Given the description of an element on the screen output the (x, y) to click on. 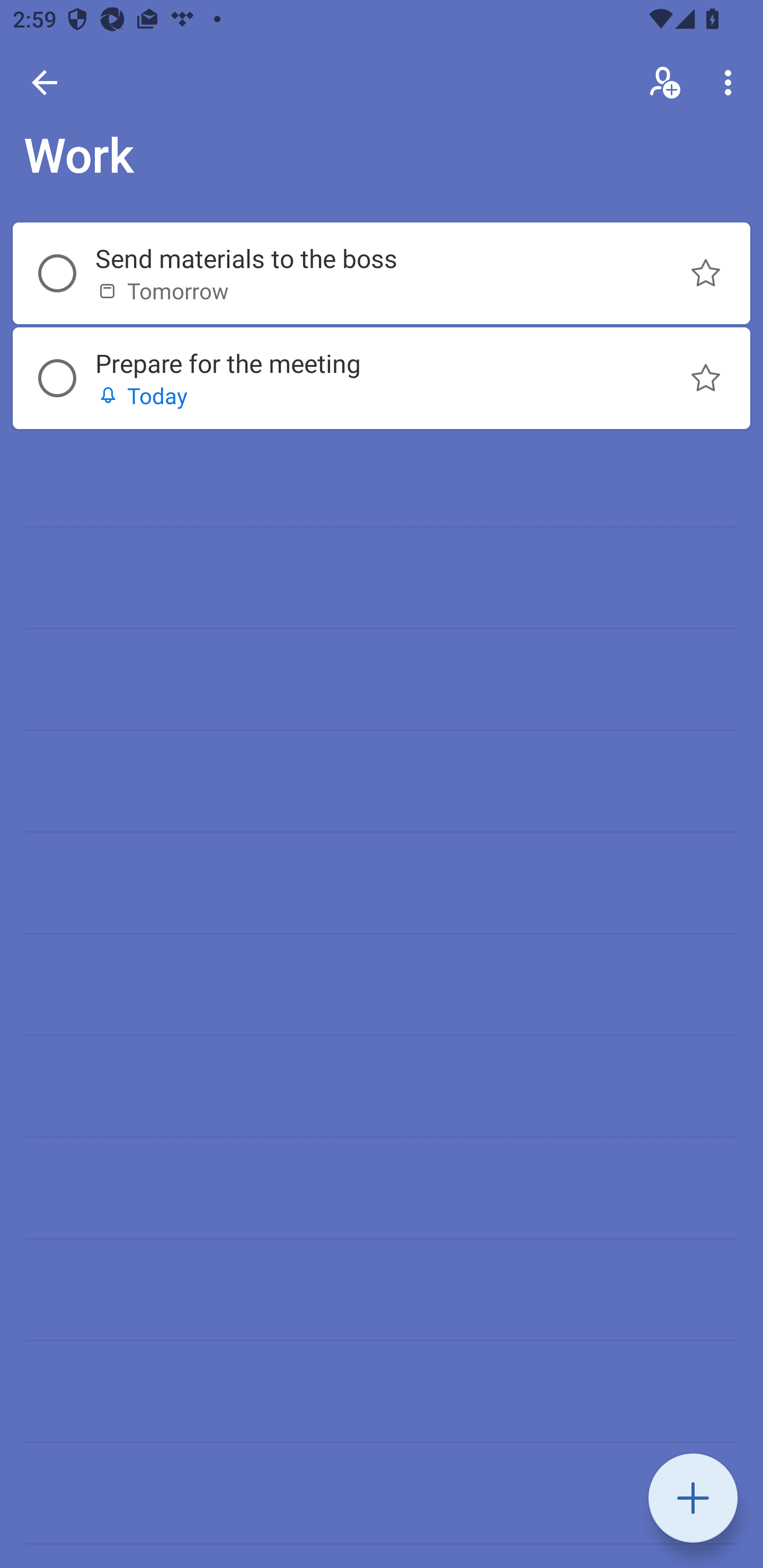
Add a task (692, 1497)
